Given the description of an element on the screen output the (x, y) to click on. 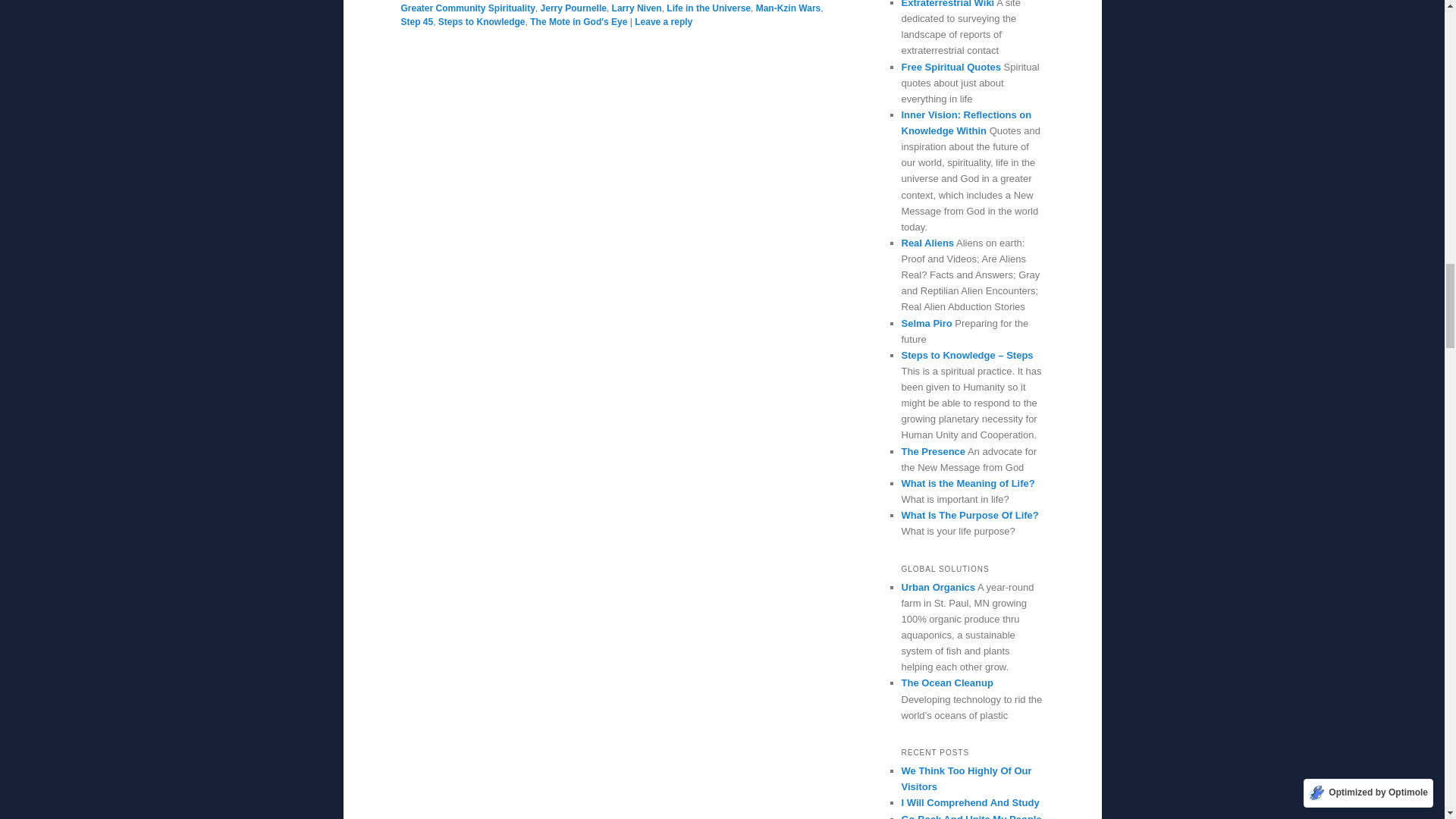
Steps to Knowledge (481, 21)
Larry Niven (636, 8)
Life in the Universe (708, 8)
Step 45 (416, 21)
Man-Kzin Wars (788, 8)
Jerry Pournelle (573, 8)
Greater Community Spirituality (467, 8)
